Given the description of an element on the screen output the (x, y) to click on. 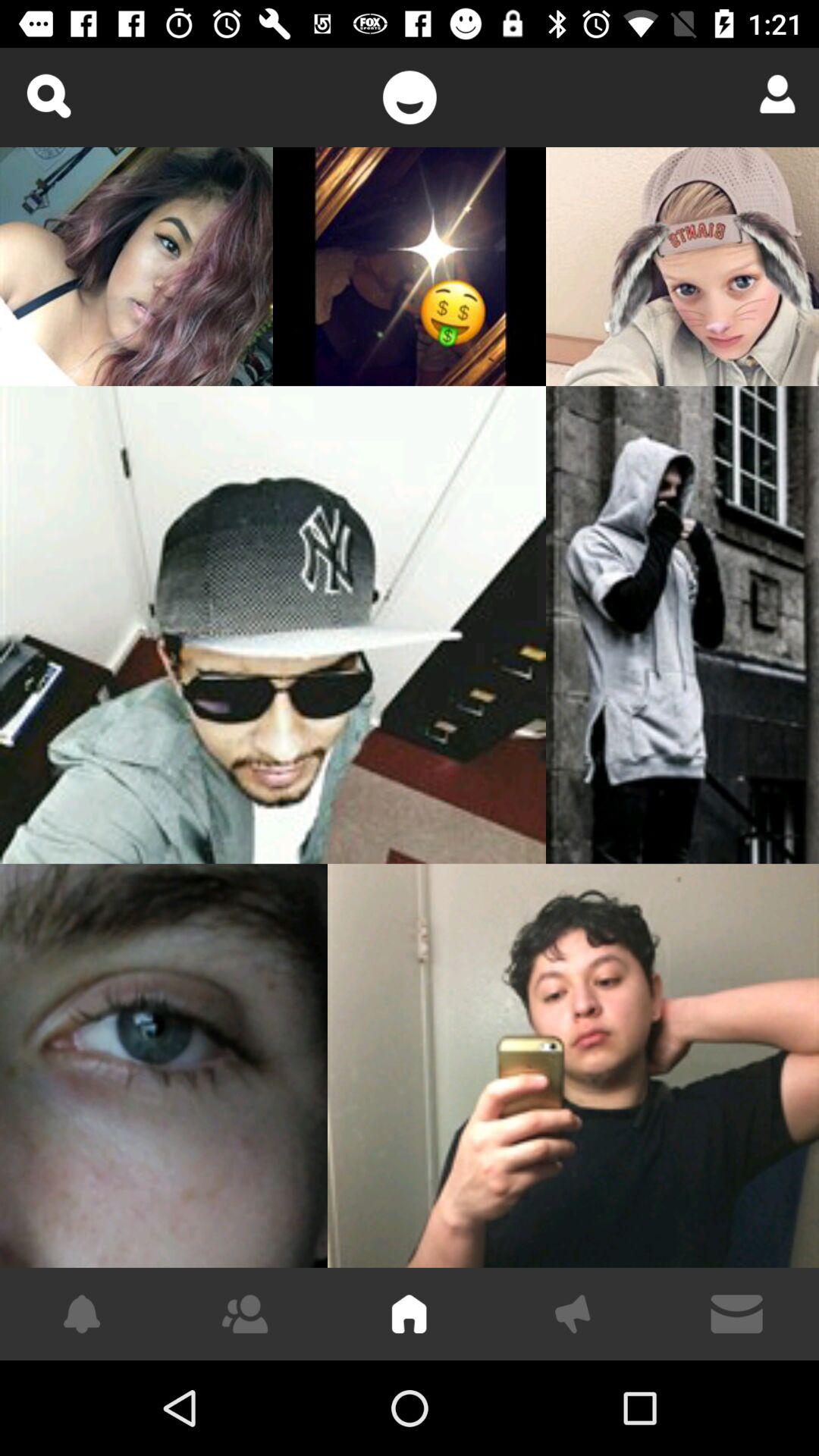
go to search bar (48, 95)
